Given the description of an element on the screen output the (x, y) to click on. 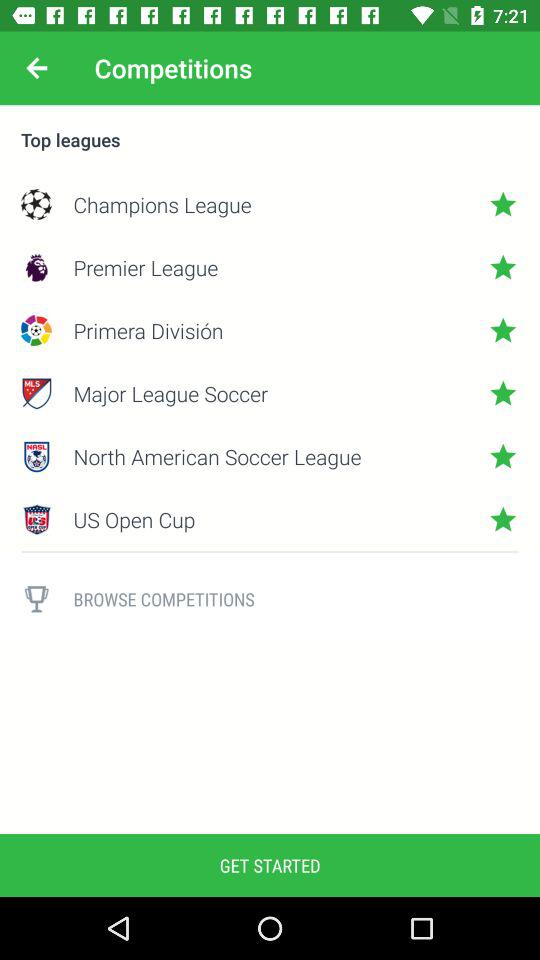
select premier league icon (269, 267)
